Given the description of an element on the screen output the (x, y) to click on. 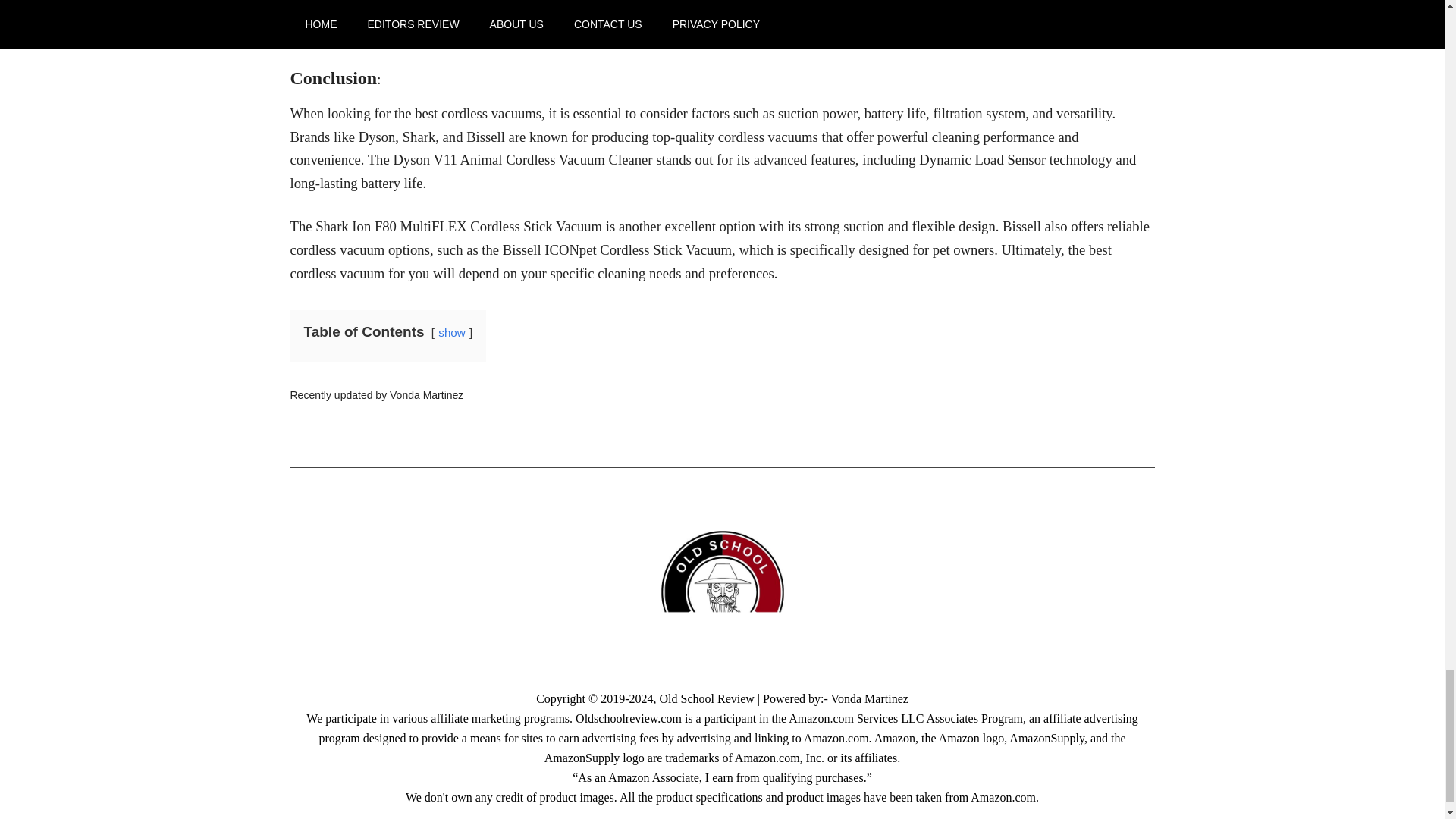
show (451, 332)
Old School Review (706, 698)
